Given the description of an element on the screen output the (x, y) to click on. 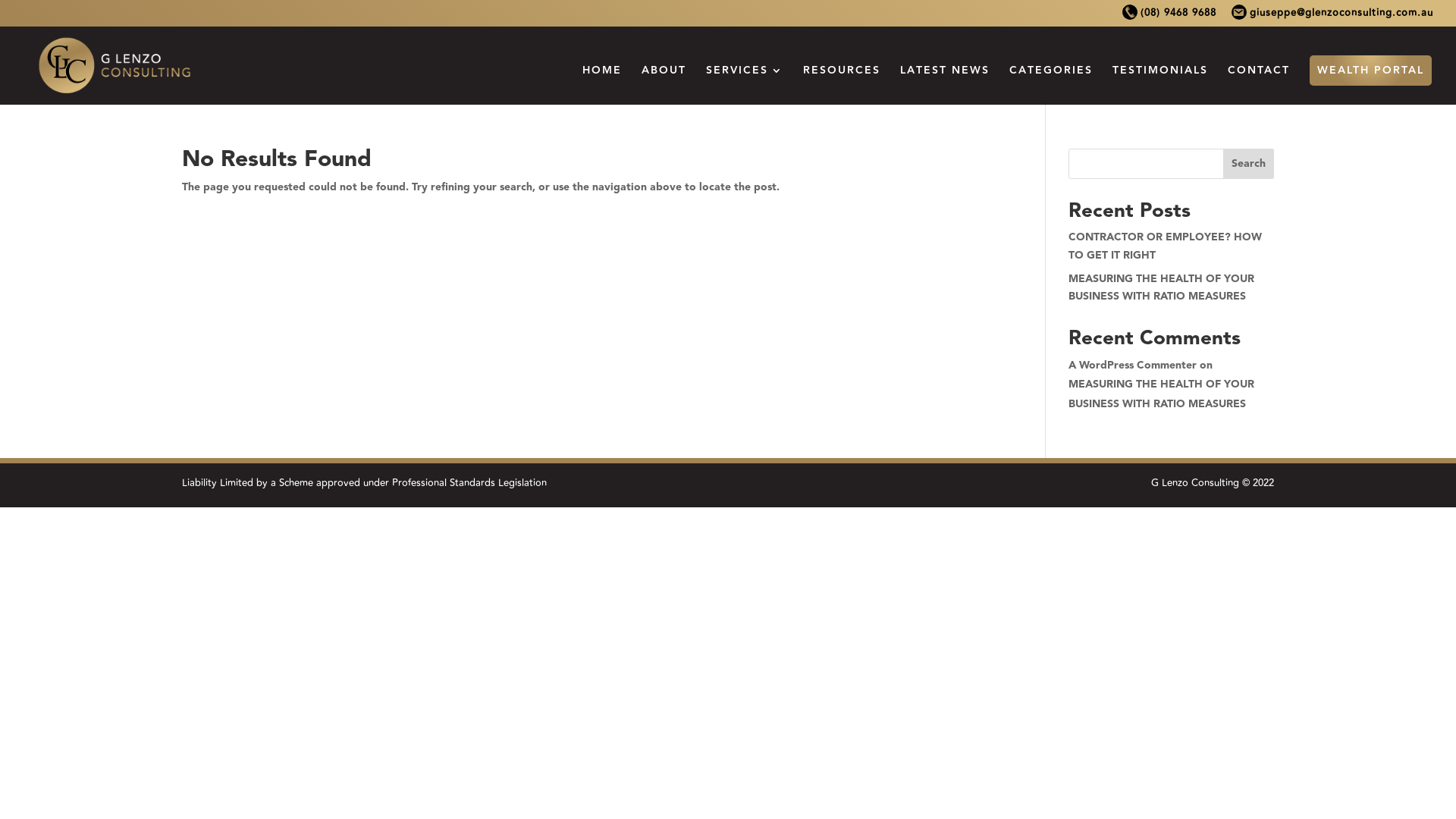
SERVICES Element type: text (744, 84)
giuseppe@glenzoconsulting.com.au Element type: text (1332, 17)
WEALTH PORTAL Element type: text (1370, 70)
CONTRACTOR OR EMPLOYEE? HOW TO GET IT RIGHT Element type: text (1164, 246)
TESTIMONIALS Element type: text (1160, 84)
CATEGORIES Element type: text (1050, 84)
MEASURING THE HEALTH OF YOUR BUSINESS WITH RATIO MEASURES Element type: text (1161, 287)
A WordPress Commenter Element type: text (1132, 365)
Search Element type: text (1248, 163)
LATEST NEWS Element type: text (944, 84)
ABOUT Element type: text (663, 84)
(08) 9468 9688 Element type: text (1169, 17)
CONTACT Element type: text (1258, 84)
MEASURING THE HEALTH OF YOUR BUSINESS WITH RATIO MEASURES Element type: text (1161, 393)
HOME Element type: text (601, 84)
RESOURCES Element type: text (841, 84)
